Given the description of an element on the screen output the (x, y) to click on. 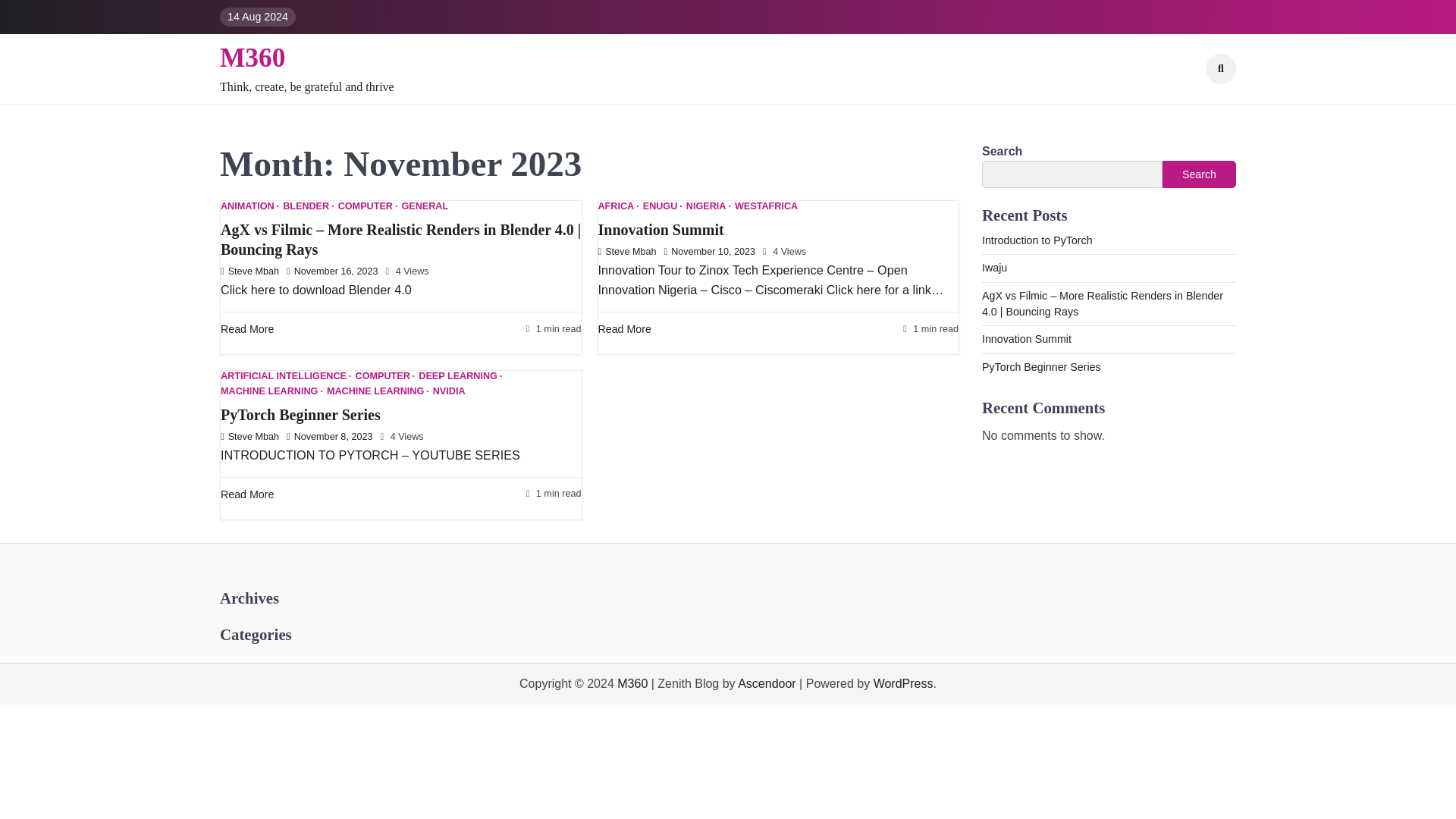
Introduction to PyTorch (1037, 240)
Steve Mbah (626, 251)
COMPUTER (367, 206)
Read More (247, 494)
MACHINE LEARNING (377, 391)
Steve Mbah (250, 271)
AFRICA (617, 206)
COMPUTER (384, 376)
DEEP LEARNING (460, 376)
Search (1220, 69)
